Given the description of an element on the screen output the (x, y) to click on. 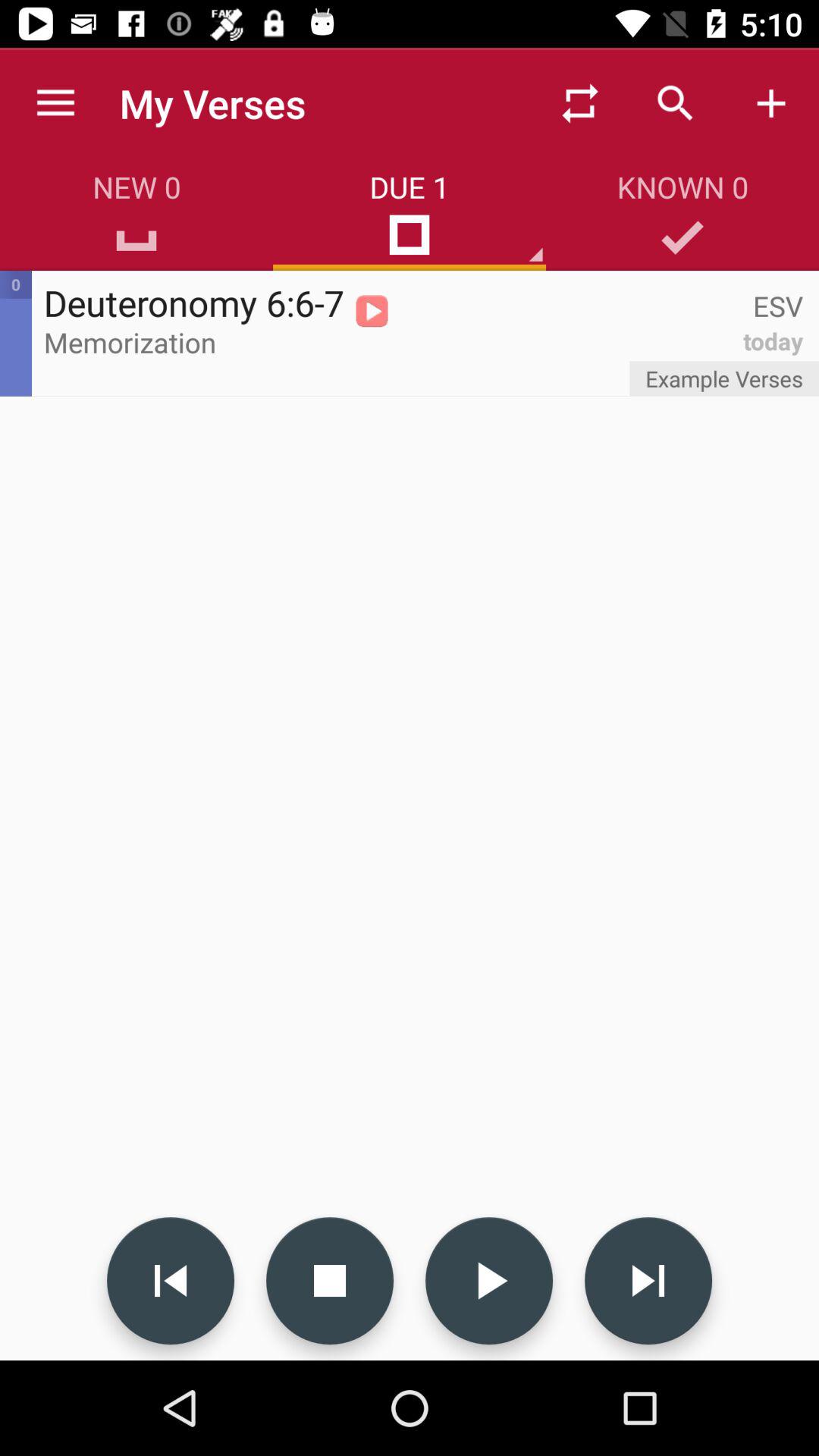
skips to the next track (648, 1280)
